Given the description of an element on the screen output the (x, y) to click on. 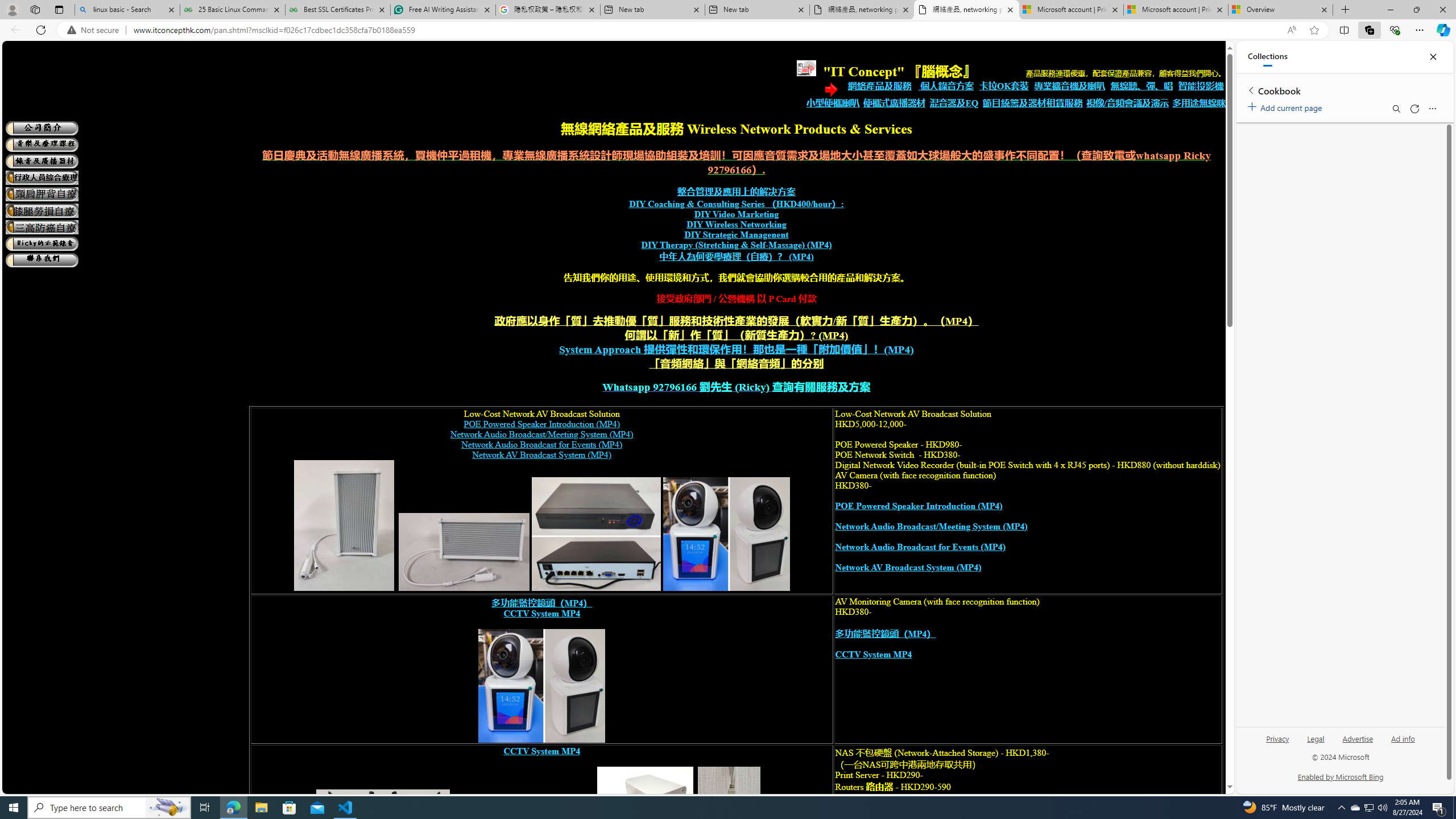
wireless network camera, (542, 685)
linux basic - Search (126, 9)
Add current page (1286, 105)
CCTV System MP4 (541, 751)
25 Basic Linux Commands For Beginners - GeeksforGeeks (231, 9)
